Given the description of an element on the screen output the (x, y) to click on. 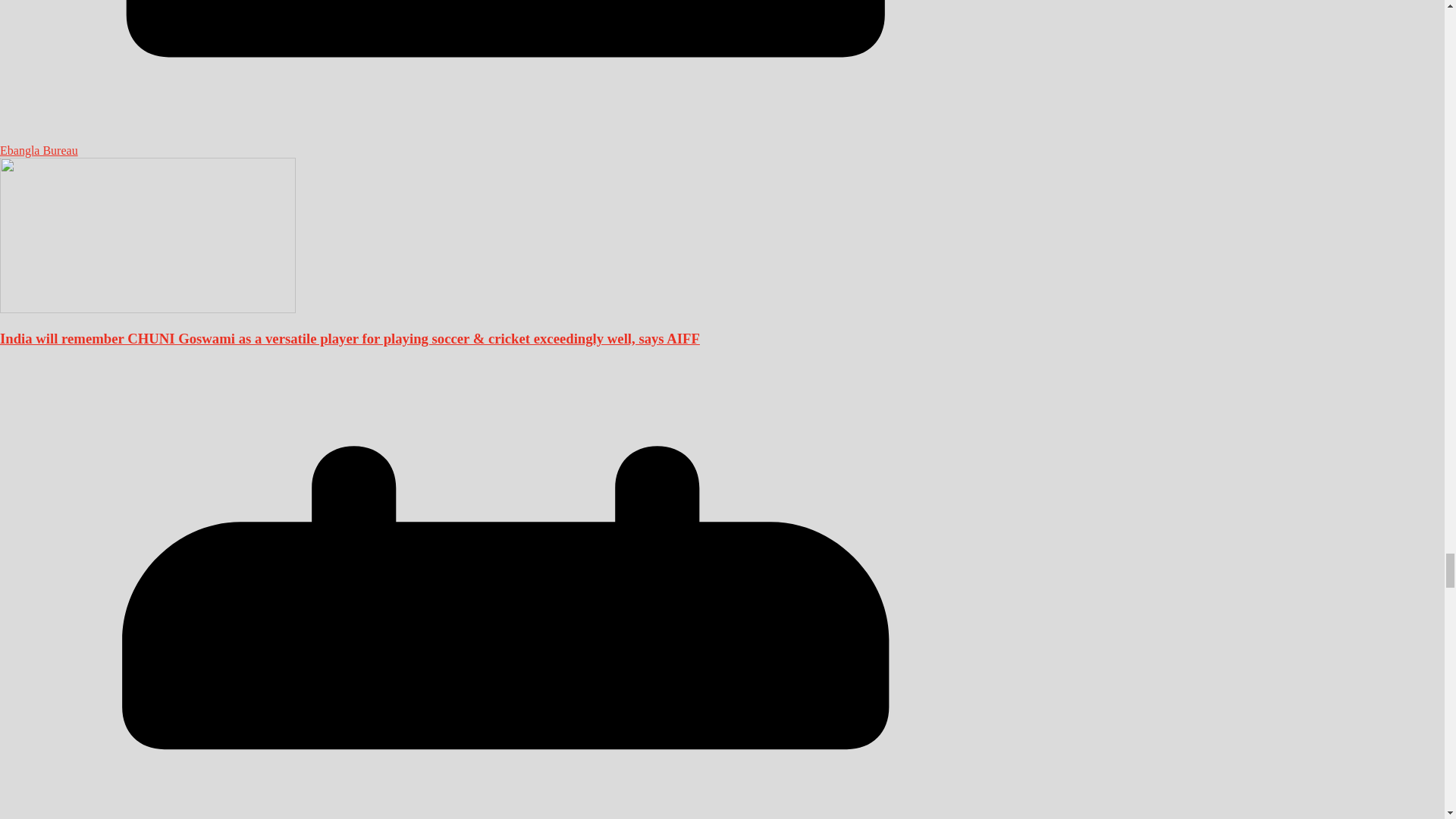
Ebangla Bureau (39, 150)
Ebangla Bureau (39, 150)
